Given the description of an element on the screen output the (x, y) to click on. 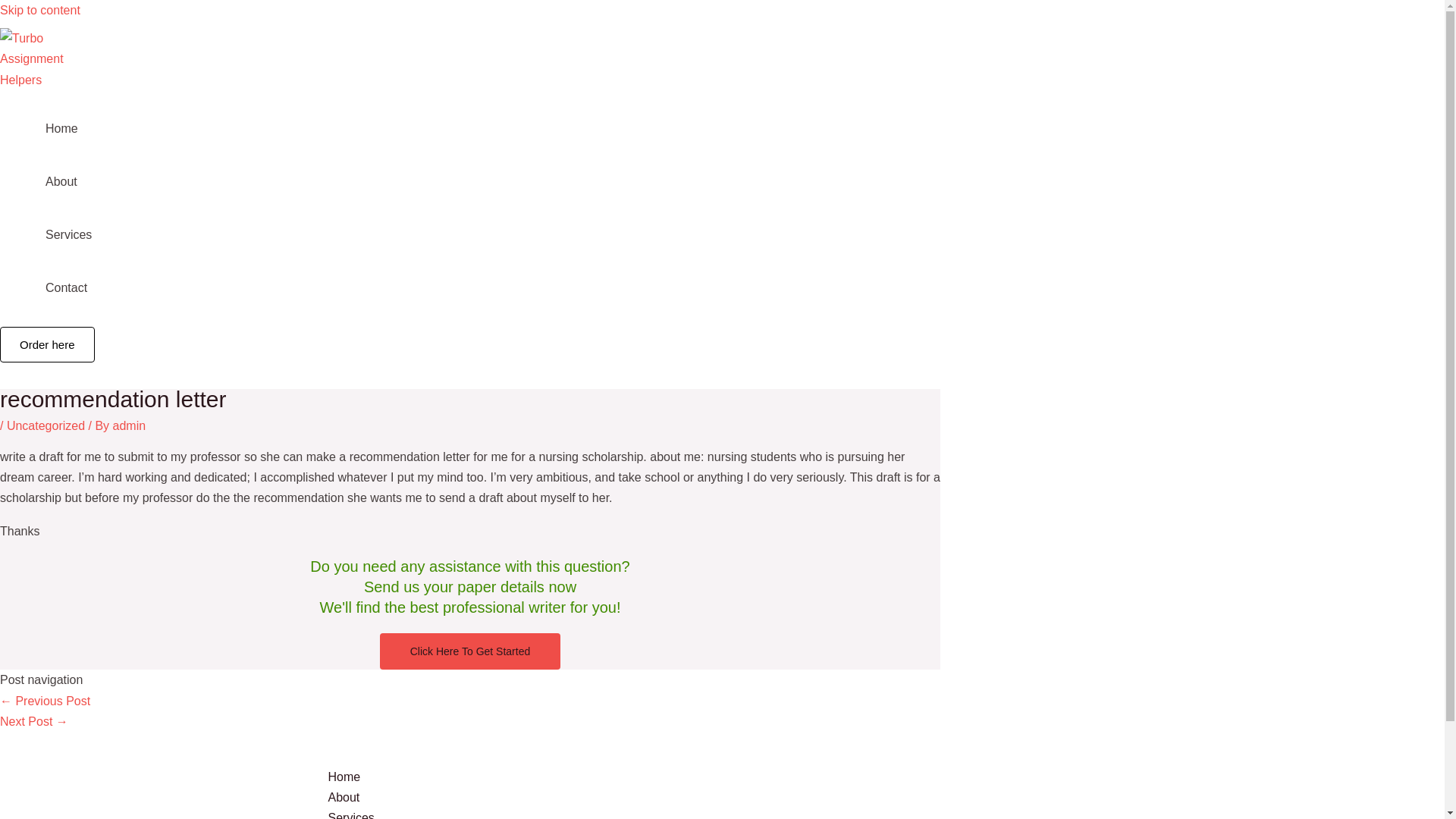
admin (130, 425)
Order here (47, 344)
Click Here To Get Started (470, 650)
Home (751, 776)
Skip to content (40, 10)
Uncategorized (45, 425)
About (751, 797)
Skip to content (40, 10)
explain your reasons for submitting this application (45, 700)
View all posts by admin (130, 425)
Services (751, 813)
Click Here To Get Started (470, 651)
what motivates you to succeed. (34, 721)
